Given the description of an element on the screen output the (x, y) to click on. 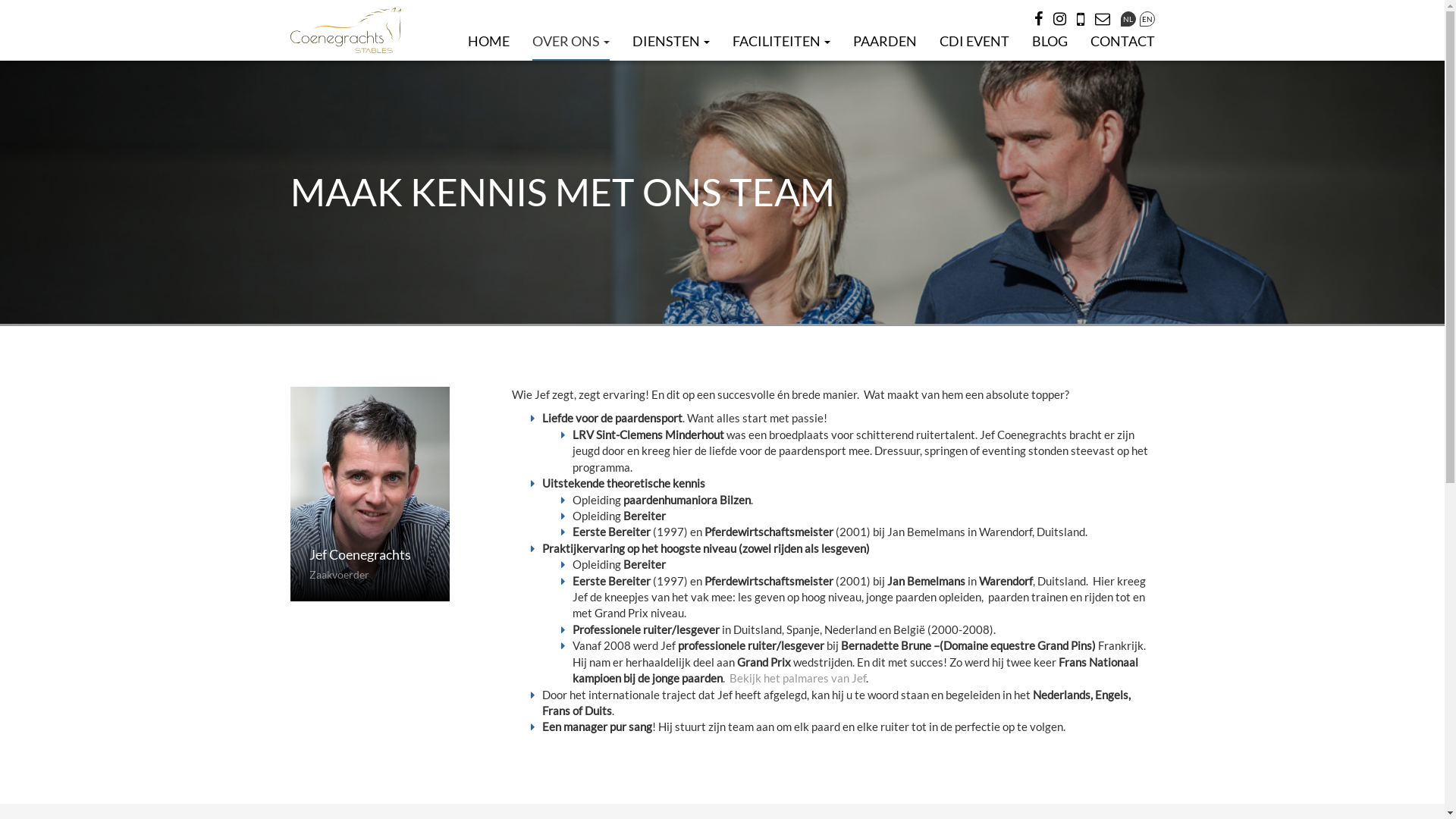
CONTACT Element type: text (1122, 40)
EN Element type: text (1147, 18)
Bekijk het palmares van Jef Element type: text (797, 677)
OVER ONS Element type: text (570, 41)
PAARDEN Element type: text (884, 40)
CDI EVENT Element type: text (973, 40)
BLOG Element type: text (1048, 40)
HOME Element type: text (487, 40)
NL Element type: text (1127, 18)
FACILITEITEN Element type: text (781, 40)
DIENSTEN Element type: text (670, 40)
